Given the description of an element on the screen output the (x, y) to click on. 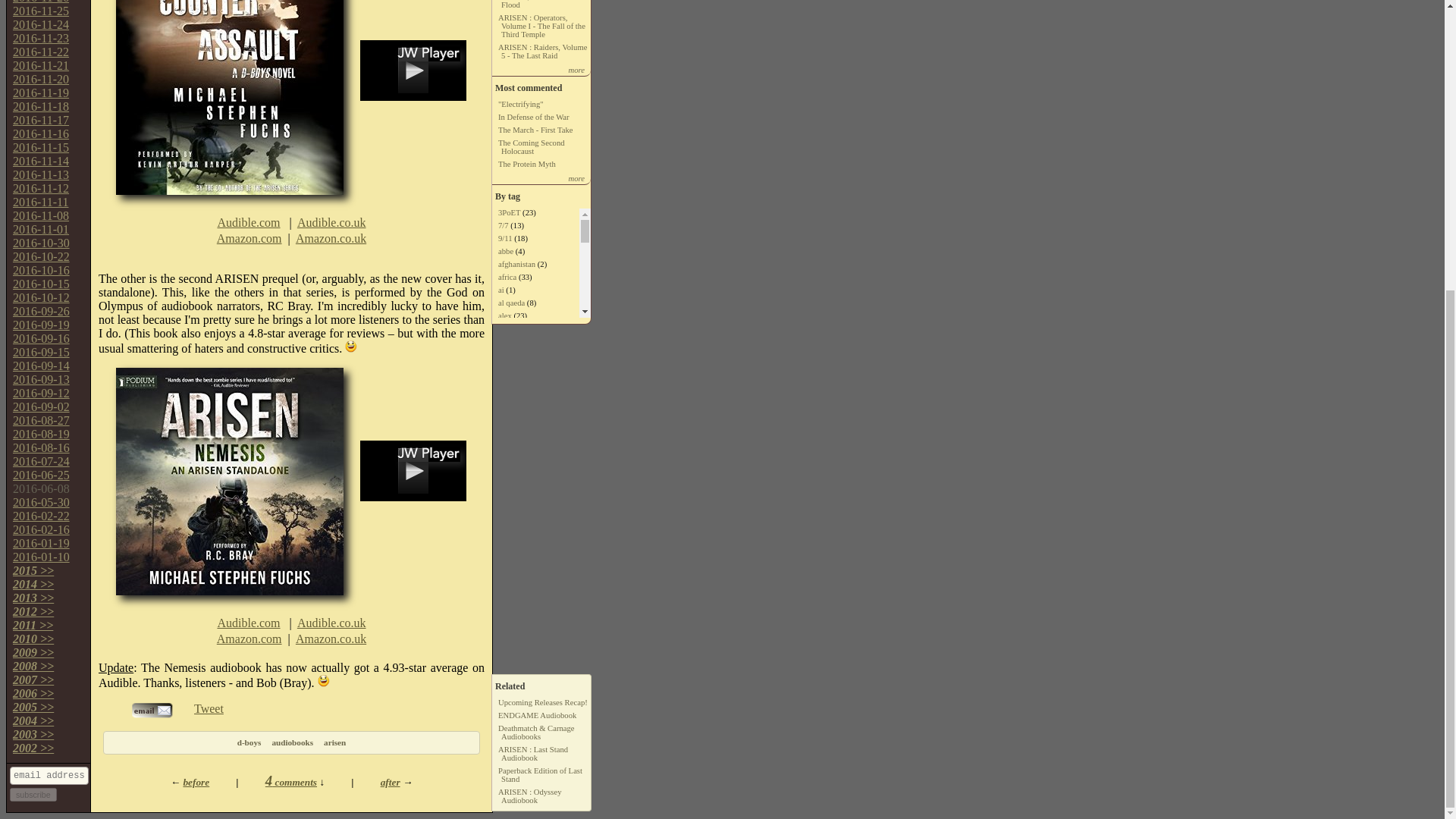
email this dispatch to a friend (152, 714)
2016-11-20 (40, 78)
2016-11-01 (40, 228)
2016-09-26 (41, 310)
2016-11-23 (40, 38)
2016-10-16 (41, 269)
subscribe (33, 794)
2016-11-14 (40, 160)
2016-11-21 (40, 65)
2016-11-11 (40, 201)
2016-11-19 (40, 92)
2016-10-15 (41, 283)
2016-11-13 (40, 174)
2016-11-25 (40, 10)
2016-11-17 (40, 119)
